Given the description of an element on the screen output the (x, y) to click on. 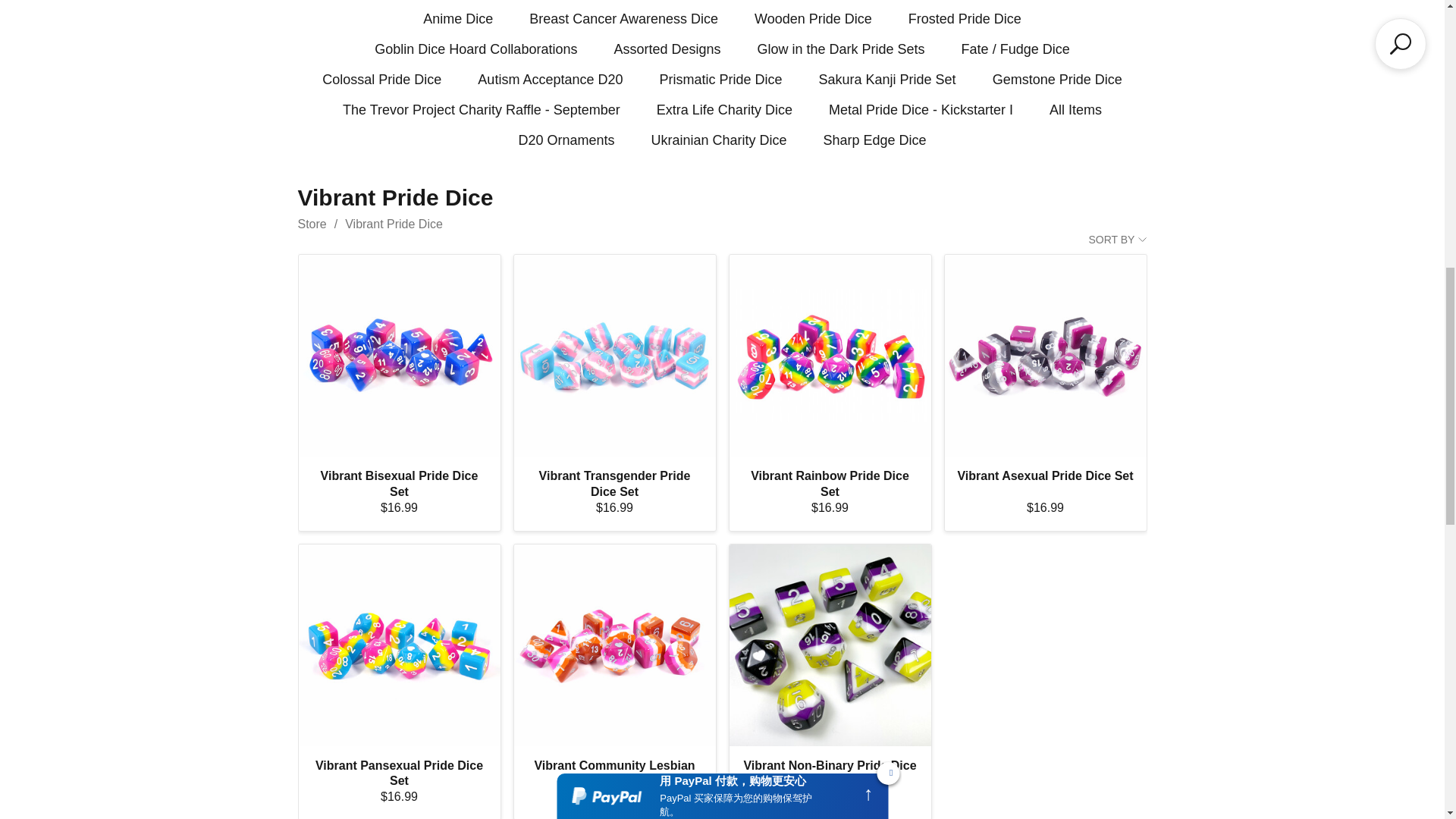
Vibrant Transgender Pride Dice Set (614, 355)
Vibrant Transgender Pride Dice Set (614, 355)
Vibrant Rainbow Pride Dice Set (830, 356)
Vibrant Rainbow Pride Dice Set (830, 355)
Vibrant Bisexual Pride Dice Set (399, 356)
Vibrant Asexual Pride Dice Set (1045, 355)
Vibrant Non-Binary Pride Dice Set (830, 645)
Vibrant Asexual Pride Dice Set (1045, 356)
Vibrant Bisexual Pride Dice Set (399, 355)
Vibrant Community Lesbian Pride Dice Set (614, 645)
Vibrant Non-Binary Pride Dice Set (830, 645)
Vibrant Pansexual Pride Dice Set (399, 645)
Vibrant Pansexual Pride Dice Set (399, 644)
Vibrant Community Lesbian Pride Dice Set (614, 645)
